Given the description of an element on the screen output the (x, y) to click on. 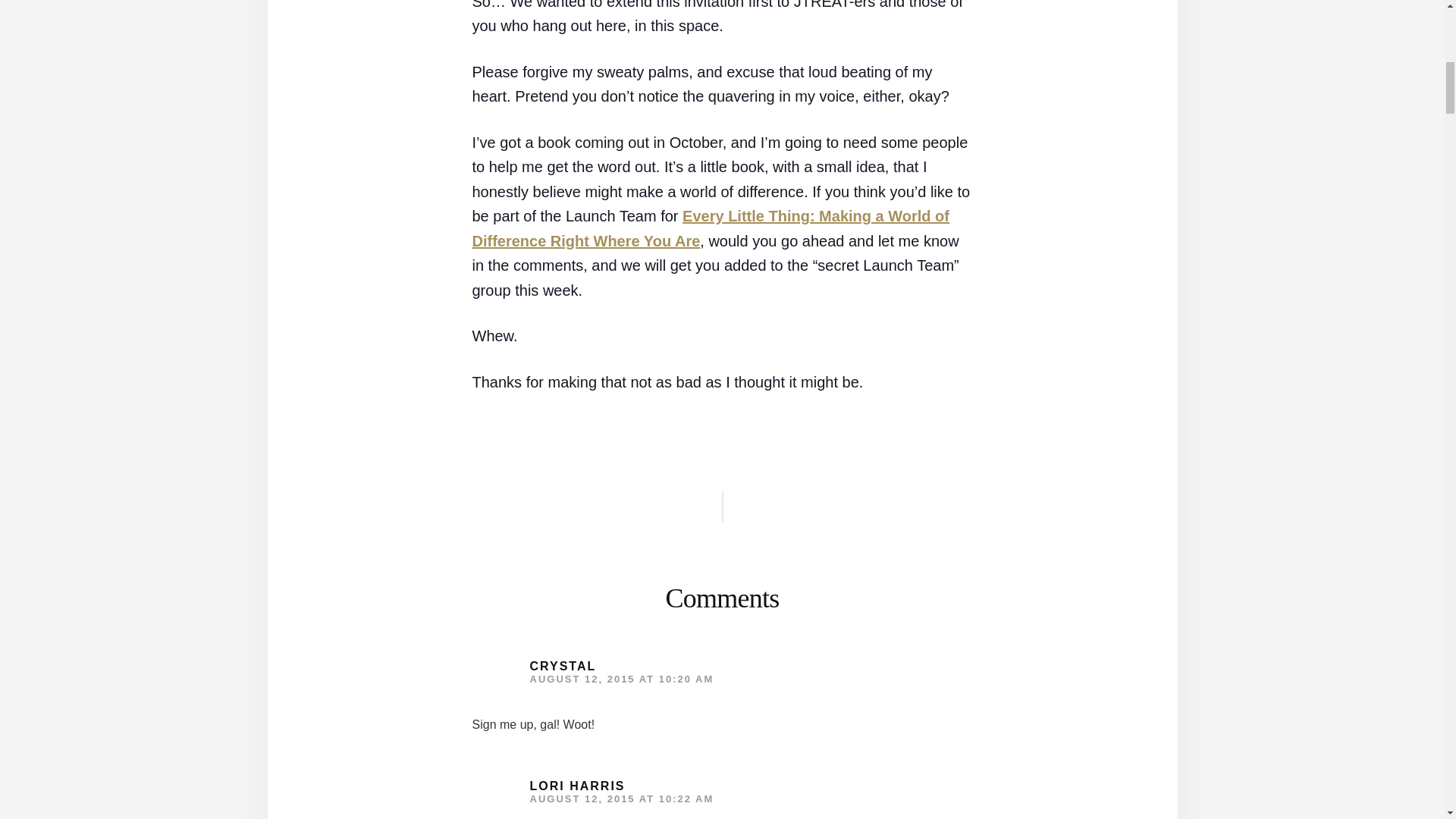
AUGUST 12, 2015 AT 10:22 AM (621, 798)
CRYSTAL (562, 666)
LORI HARRIS (576, 785)
AUGUST 12, 2015 AT 10:20 AM (621, 678)
